Given the description of an element on the screen output the (x, y) to click on. 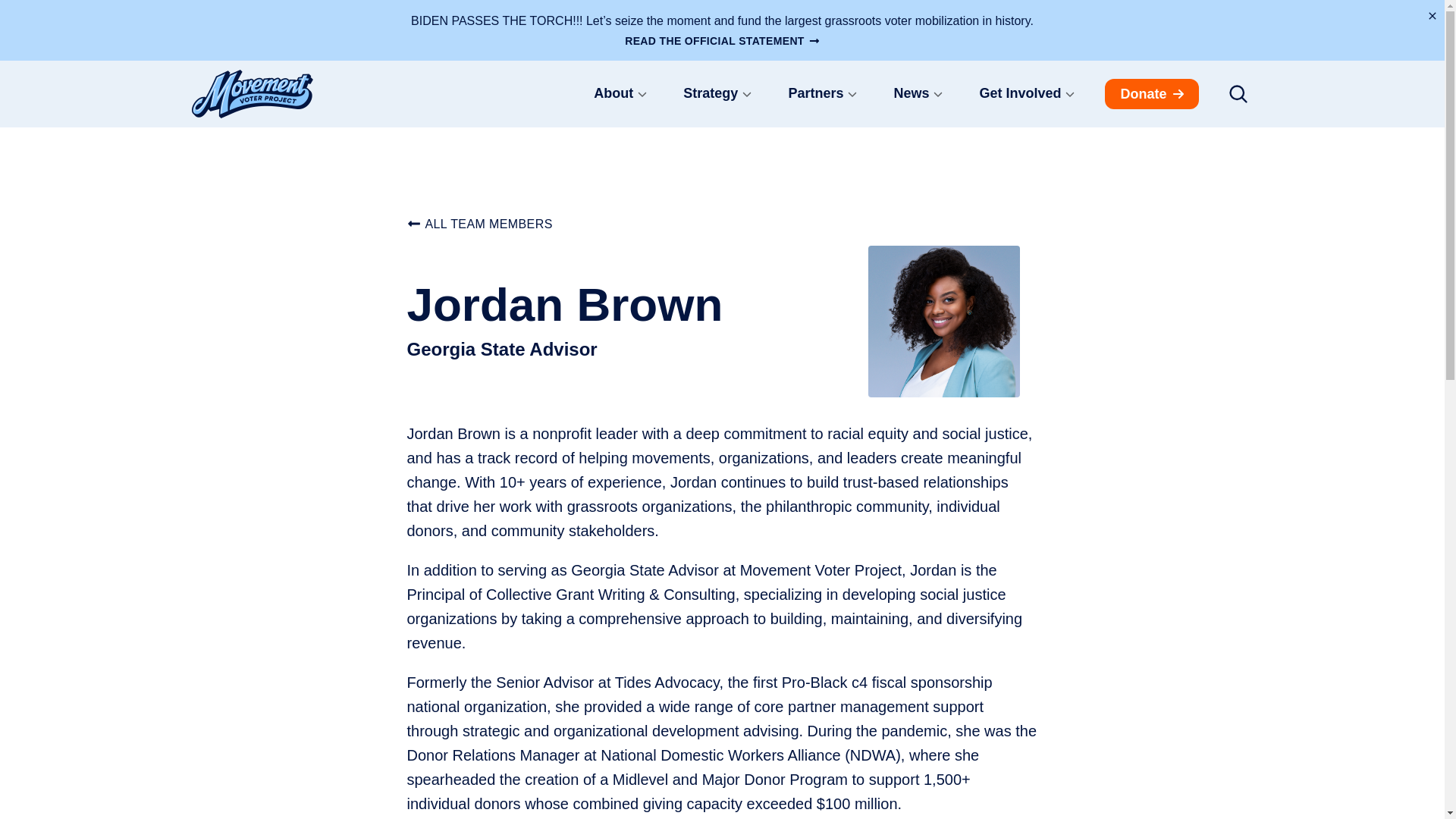
Get Involved (1026, 94)
About (620, 94)
Donate (1151, 93)
Strategy (717, 94)
News (917, 94)
Partners (822, 94)
ALL TEAM MEMBERS (478, 224)
